Given the description of an element on the screen output the (x, y) to click on. 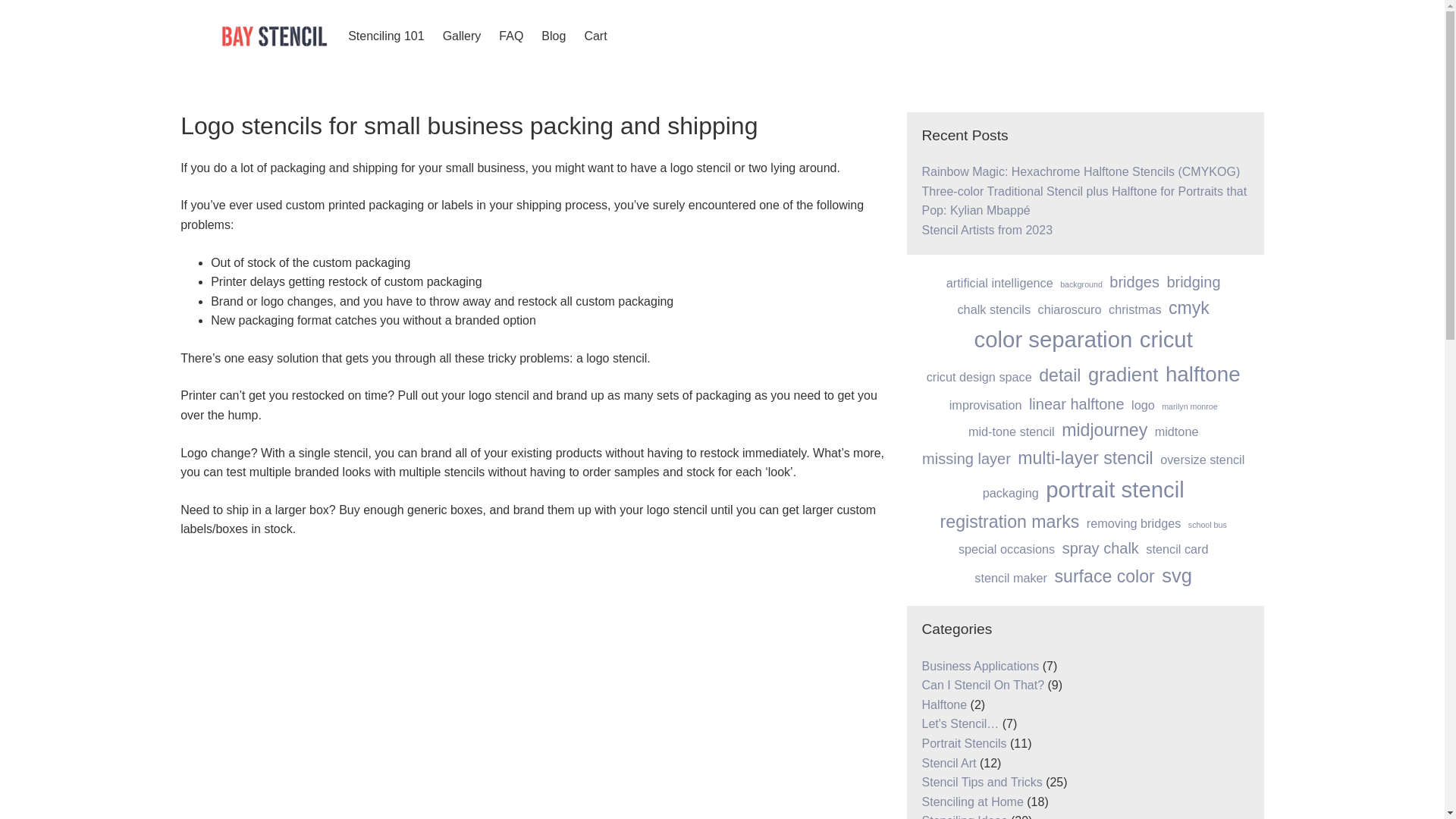
gradient (1122, 374)
halftone (1203, 374)
detail (1059, 375)
multi-layer stencil (1085, 458)
marilyn monroe (1189, 406)
midtone (1176, 431)
bridges (1133, 282)
missing layer (965, 458)
christmas (1134, 309)
chiaroscuro (1070, 309)
